Given the description of an element on the screen output the (x, y) to click on. 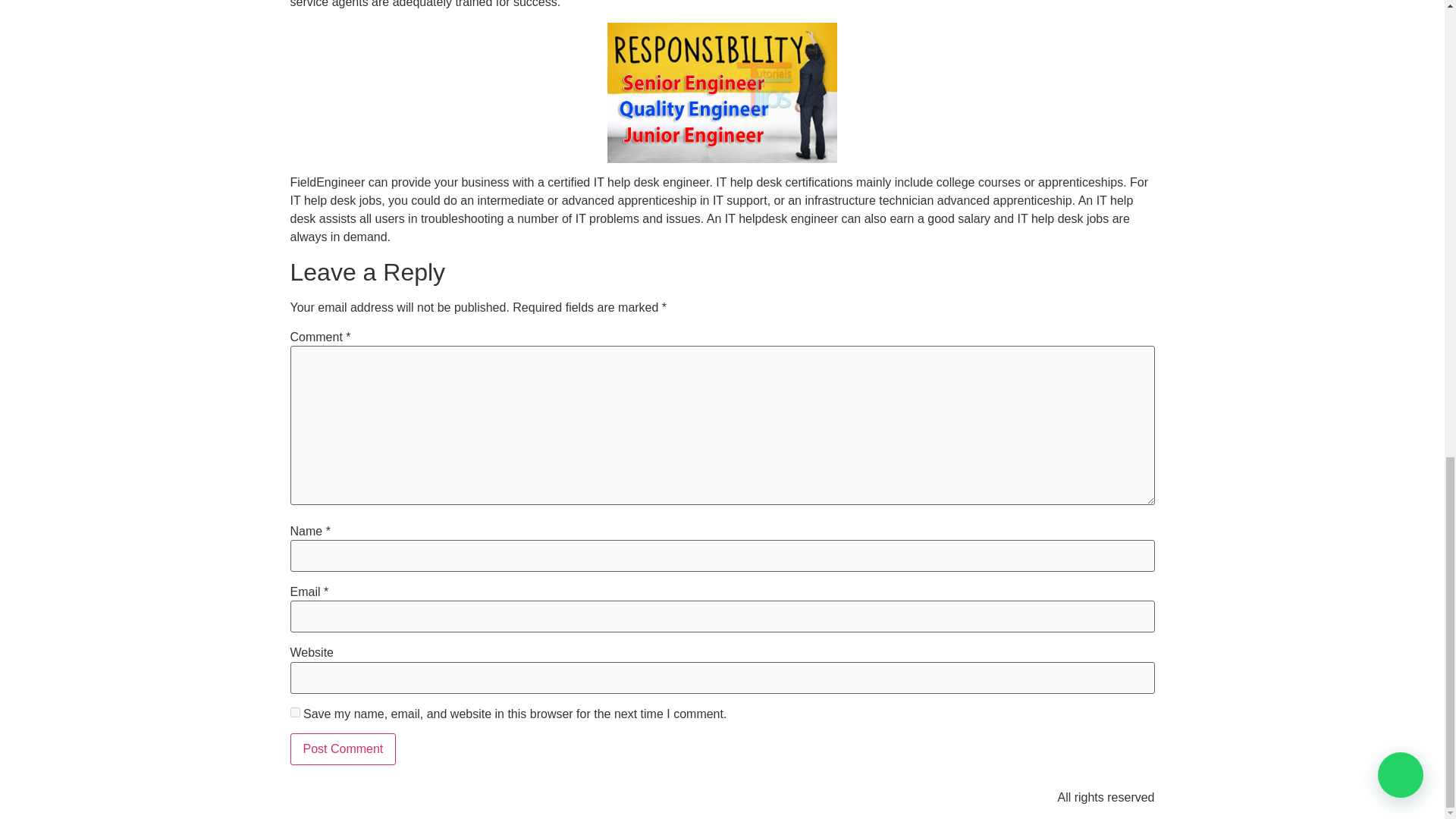
Post Comment (342, 748)
yes (294, 712)
Post Comment (342, 748)
